Given the description of an element on the screen output the (x, y) to click on. 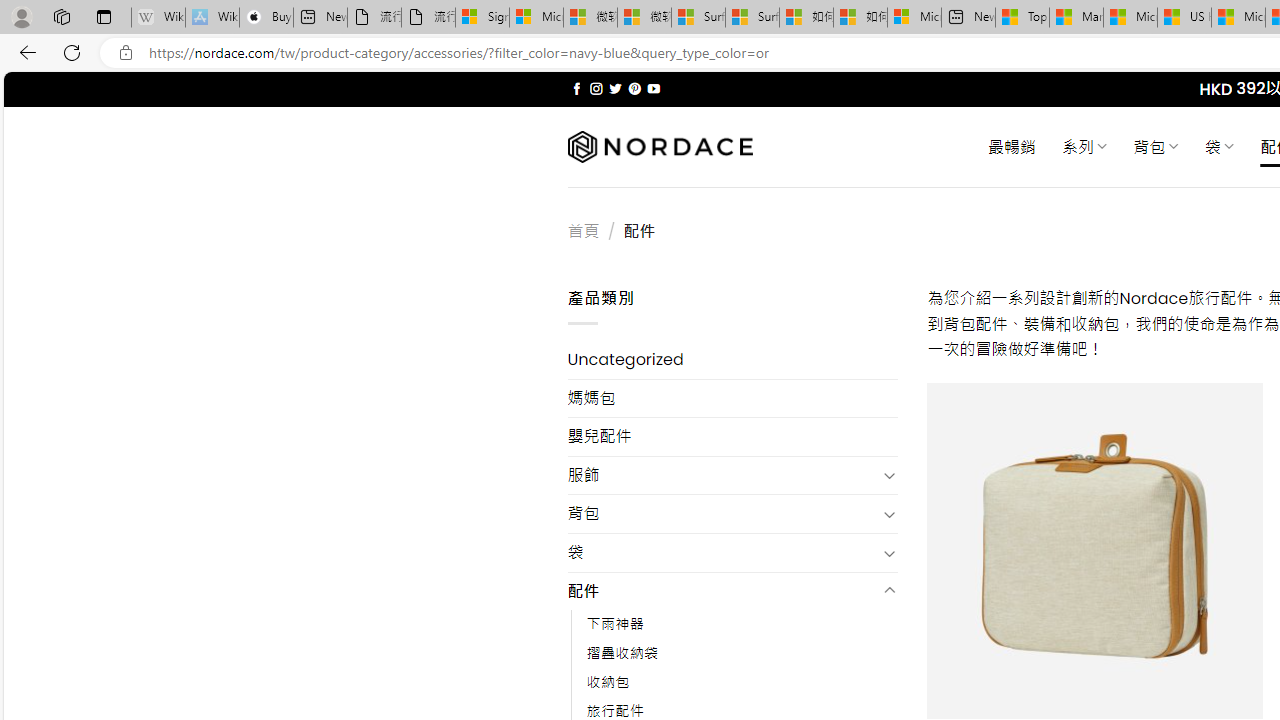
Follow on Facebook (576, 88)
Buy iPad - Apple (266, 17)
Marine life - MSN (1076, 17)
